Given the description of an element on the screen output the (x, y) to click on. 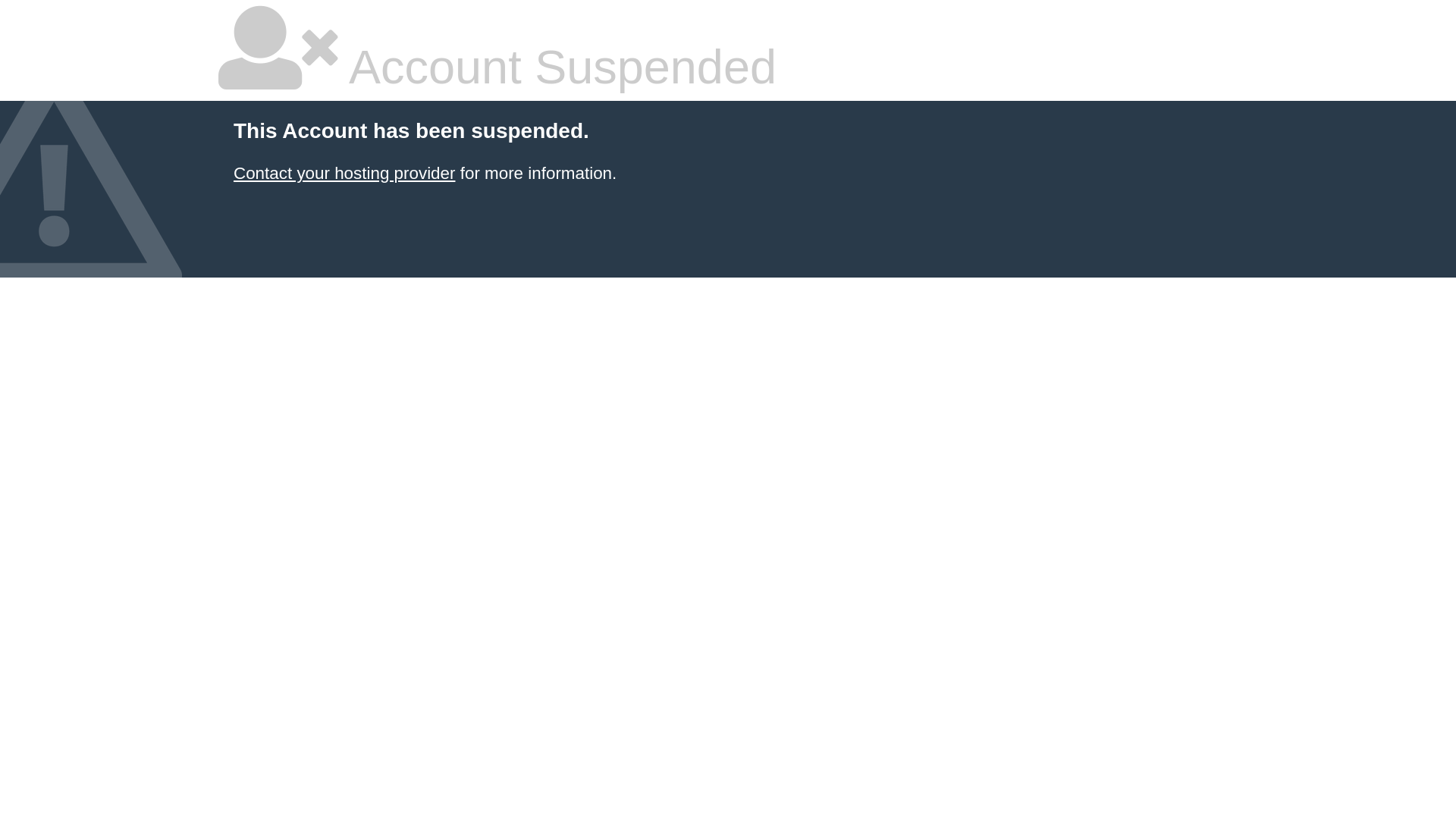
Contact your hosting provider Element type: text (344, 172)
